Given the description of an element on the screen output the (x, y) to click on. 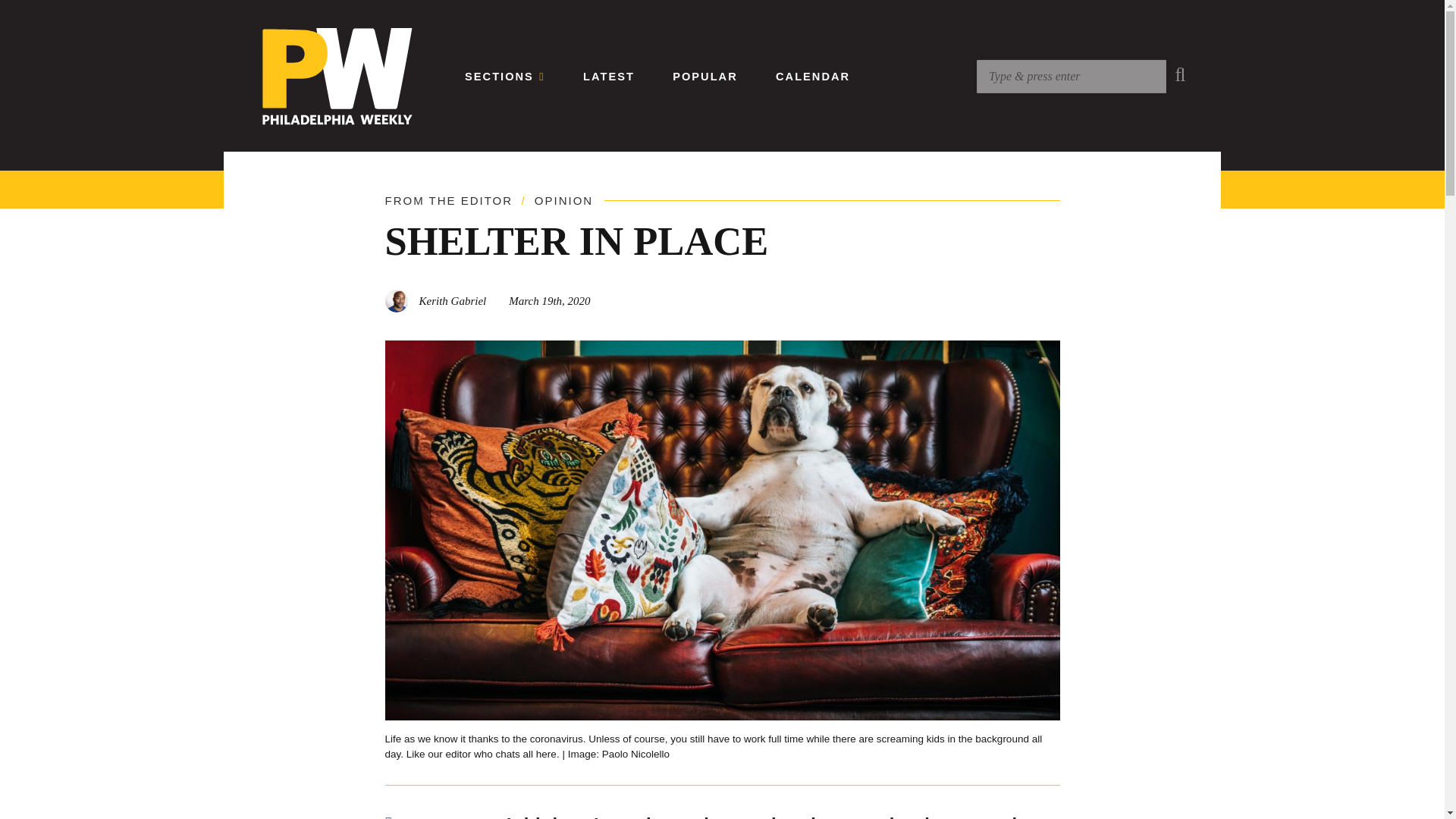
Share on Facebook (411, 816)
LATEST (608, 76)
SECTIONS (504, 76)
CALENDAR (813, 76)
From the Editor (449, 199)
Opinion (563, 199)
POPULAR (705, 76)
Search for: (1071, 76)
